Given the description of an element on the screen output the (x, y) to click on. 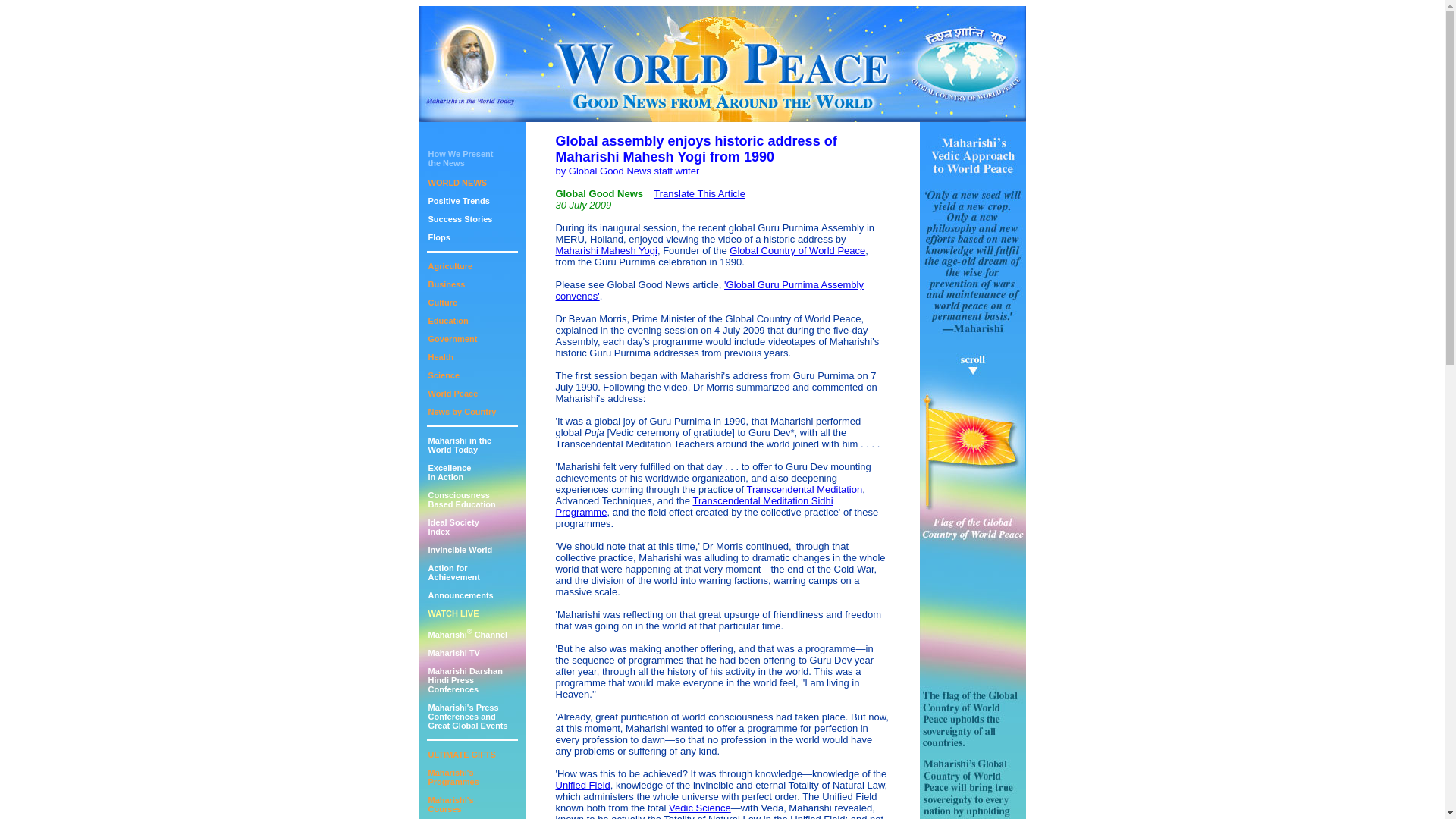
Invincible World (460, 549)
Science (444, 375)
Culture (442, 302)
WATCH LIVE (453, 613)
World Peace (452, 393)
Health (453, 572)
Agriculture (440, 356)
Education (467, 716)
News by Country (449, 266)
Business (453, 777)
